Given the description of an element on the screen output the (x, y) to click on. 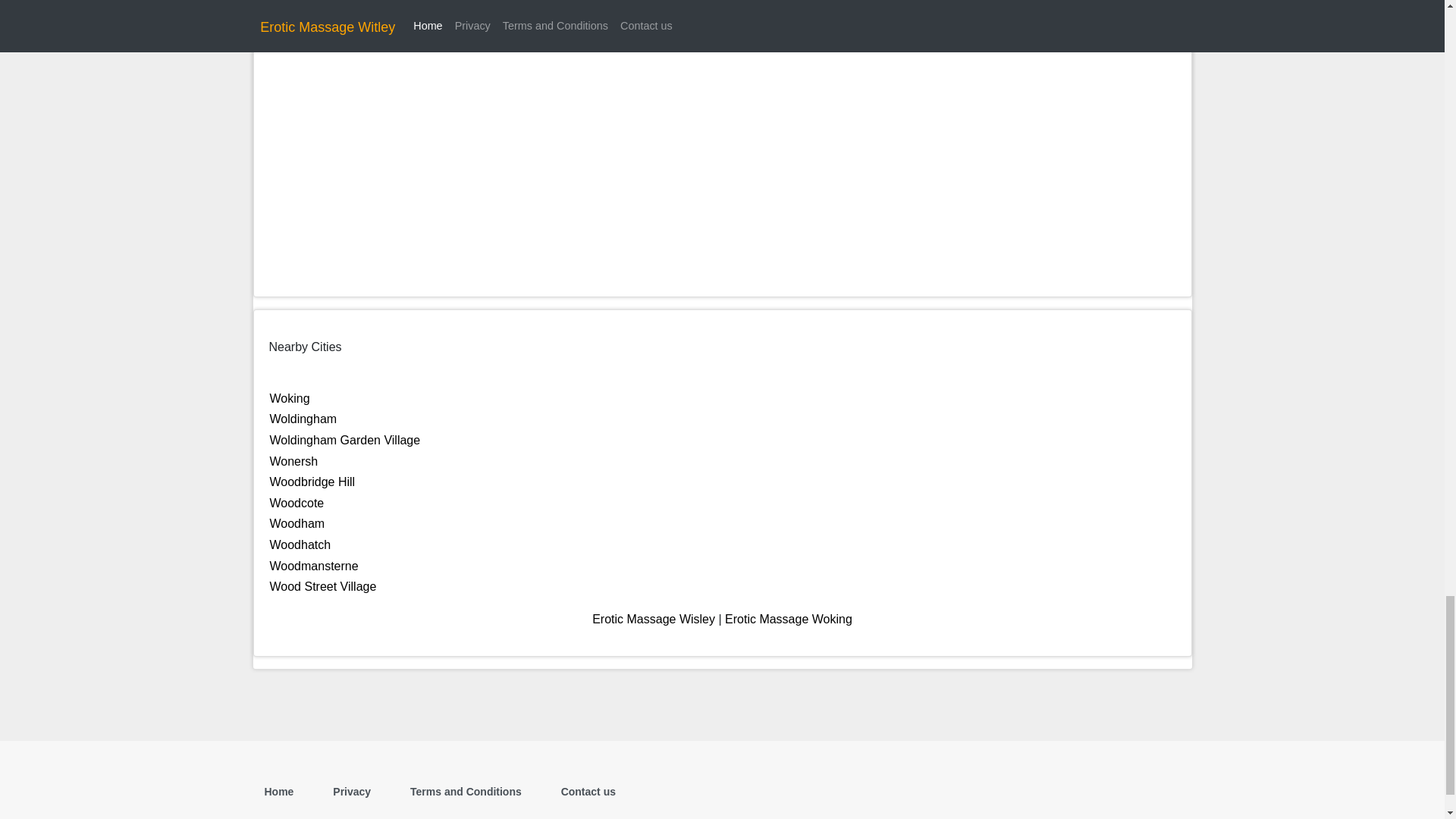
Wonersh (293, 461)
Woodham (296, 522)
Woodhatch (300, 544)
Woldingham Garden Village (344, 440)
Erotic Massage Wisley (653, 618)
Woking (289, 398)
Woodbridge Hill (312, 481)
Woldingham (303, 418)
Erotic Massage Woking (788, 618)
Wood Street Village (323, 585)
